Given the description of an element on the screen output the (x, y) to click on. 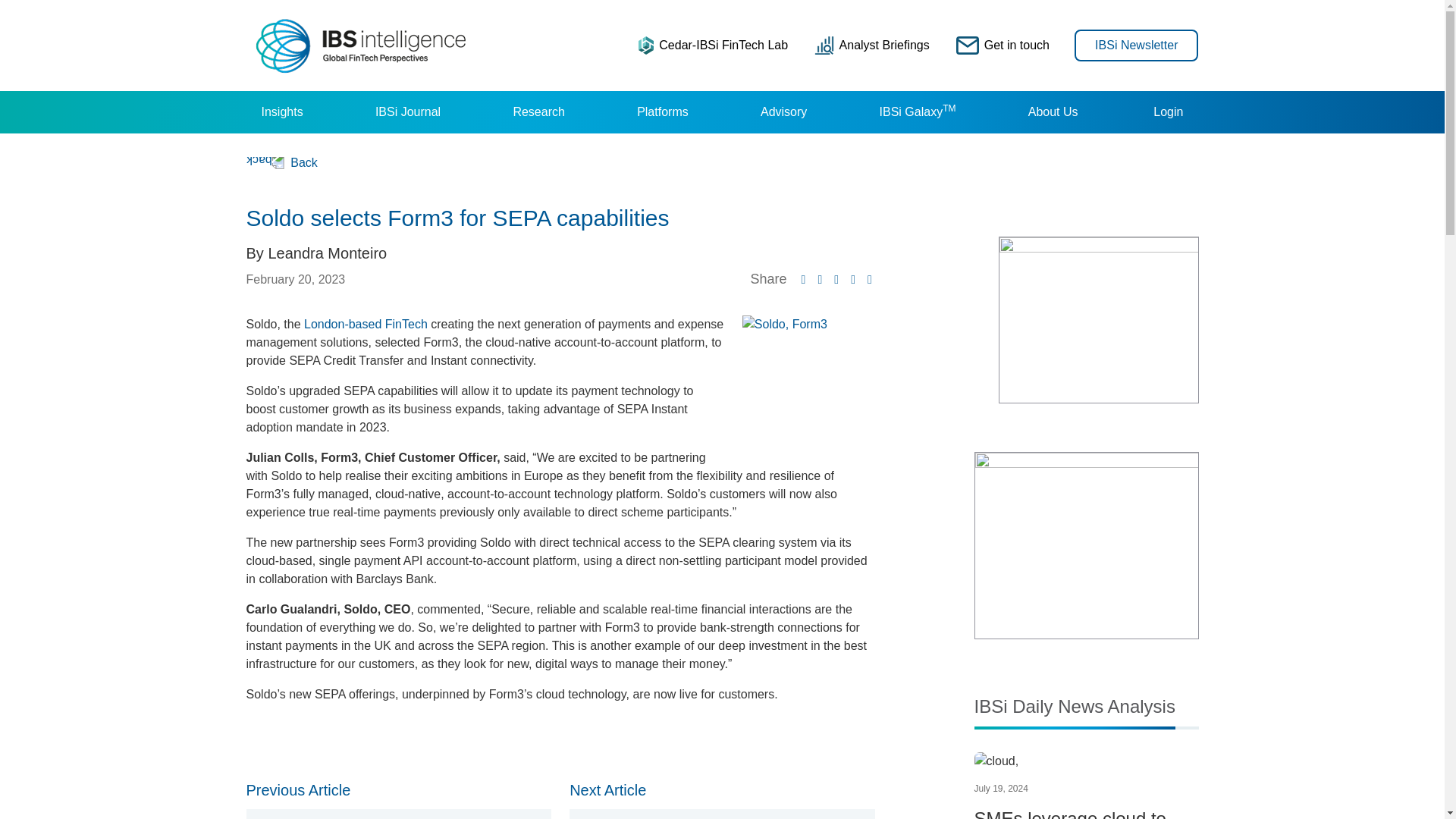
Insights (281, 111)
Research (538, 111)
Cedar-IBSi FinTech Lab (712, 45)
Get in touch (1002, 45)
IBSi Newsletter (1136, 44)
Analyst Briefings (871, 45)
IBSi Journal (407, 111)
